Given the description of an element on the screen output the (x, y) to click on. 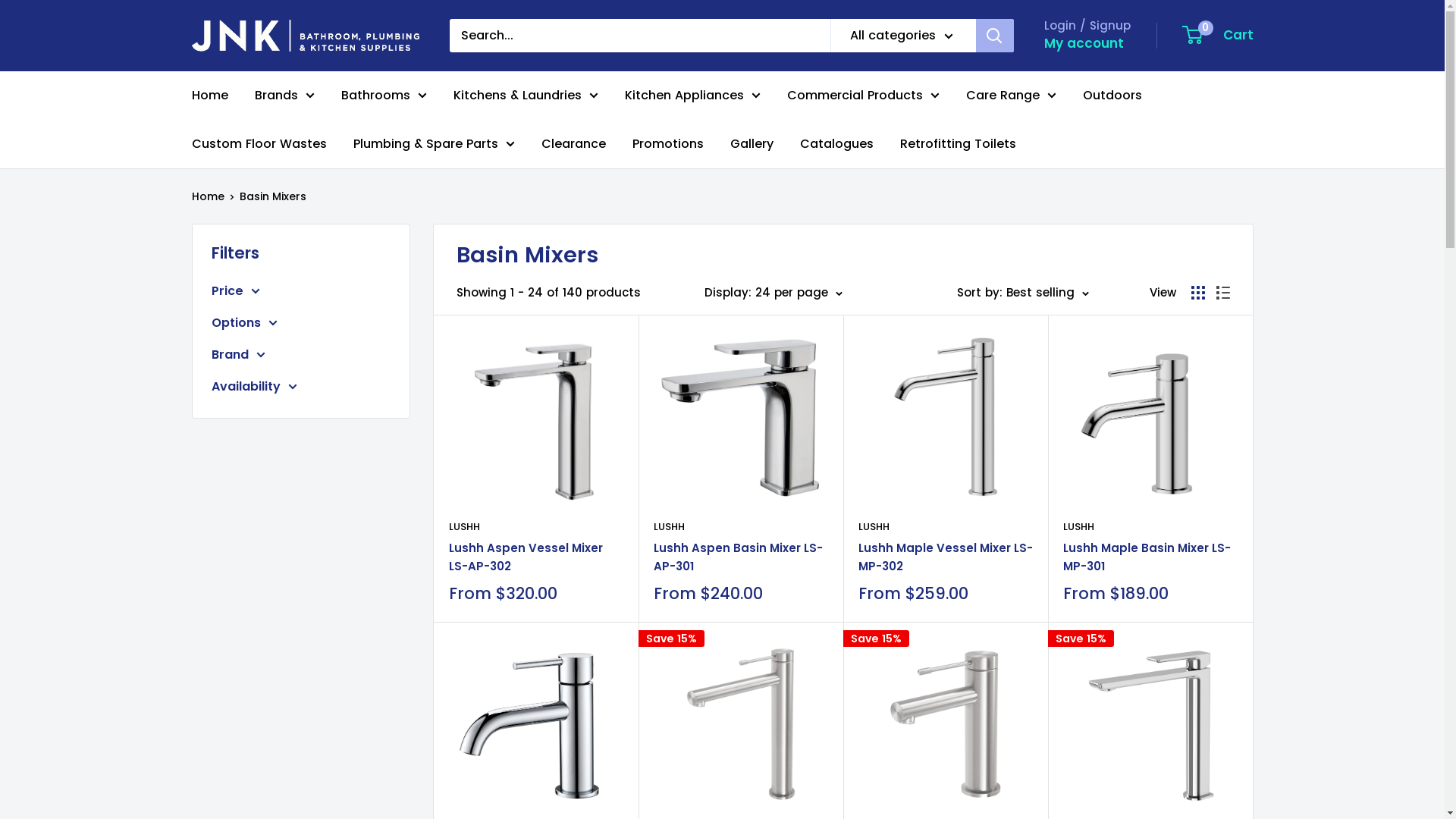
Basin Mixers Element type: text (272, 195)
Home Element type: text (209, 95)
Gallery Element type: text (750, 143)
Kitchens & Laundries Element type: text (525, 95)
Retrofitting Toilets Element type: text (957, 143)
Kitchen Appliances Element type: text (692, 95)
LUSHH Element type: text (535, 526)
Brands Element type: text (284, 95)
Lushh Maple Vessel Mixer LS-MP-302 Element type: text (945, 556)
Availability Element type: text (299, 386)
Home Element type: text (207, 195)
Commercial Products Element type: text (863, 95)
Lushh Aspen Basin Mixer LS-AP-301 Element type: text (740, 556)
LUSHH Element type: text (740, 526)
Promotions Element type: text (667, 143)
Custom Floor Wastes Element type: text (258, 143)
Lushh Maple Basin Mixer LS-MP-301 Element type: text (1150, 556)
Brand Element type: text (299, 354)
jnkonline Element type: text (304, 35)
Catalogues Element type: text (835, 143)
Sort by: Best selling Element type: text (1022, 292)
Price Element type: text (299, 290)
LUSHH Element type: text (945, 526)
Options Element type: text (299, 322)
LUSHH Element type: text (1150, 526)
0
Cart Element type: text (1217, 35)
Lushh Aspen Vessel Mixer LS-AP-302 Element type: text (535, 556)
Bathrooms Element type: text (383, 95)
Clearance Element type: text (573, 143)
My account Element type: text (1083, 43)
Display: 24 per page Element type: text (772, 292)
Outdoors Element type: text (1112, 95)
Plumbing & Spare Parts Element type: text (433, 143)
Care Range Element type: text (1011, 95)
